Given the description of an element on the screen output the (x, y) to click on. 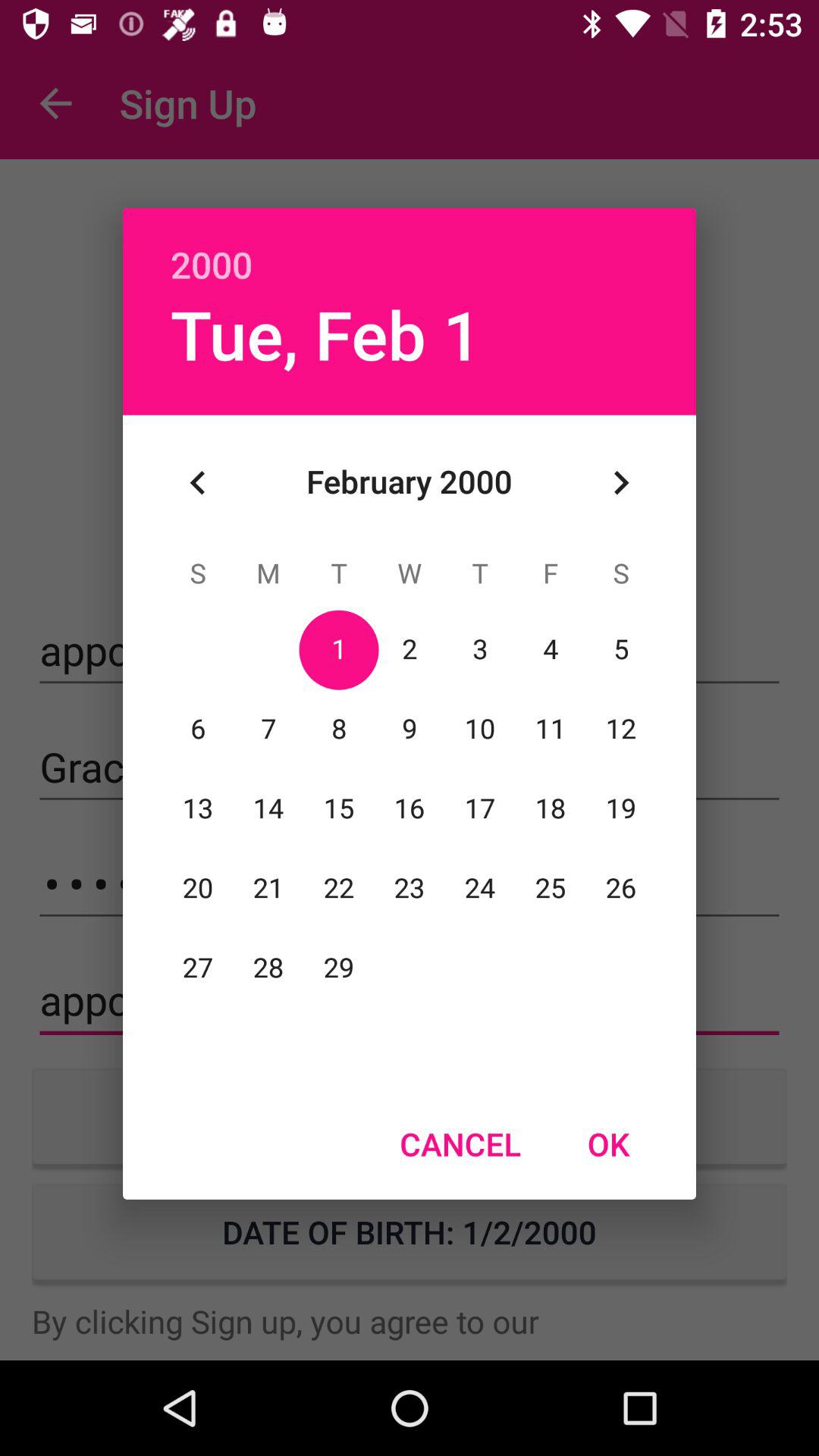
click the icon at the top right corner (620, 482)
